Given the description of an element on the screen output the (x, y) to click on. 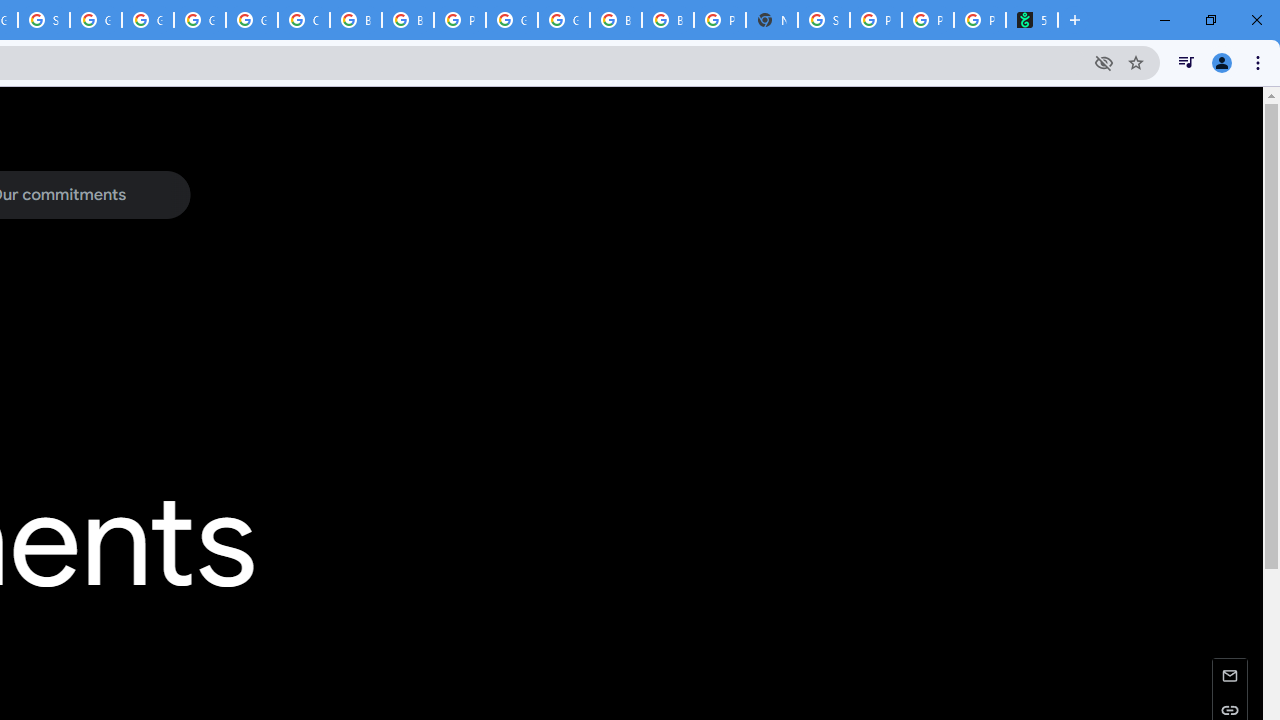
Browse Chrome as a guest - Computer - Google Chrome Help (667, 20)
Browse Chrome as a guest - Computer - Google Chrome Help (407, 20)
Share this page (Email) (1230, 674)
Sign in - Google Accounts (823, 20)
Browse Chrome as a guest - Computer - Google Chrome Help (616, 20)
New Tab (771, 20)
